Given the description of an element on the screen output the (x, y) to click on. 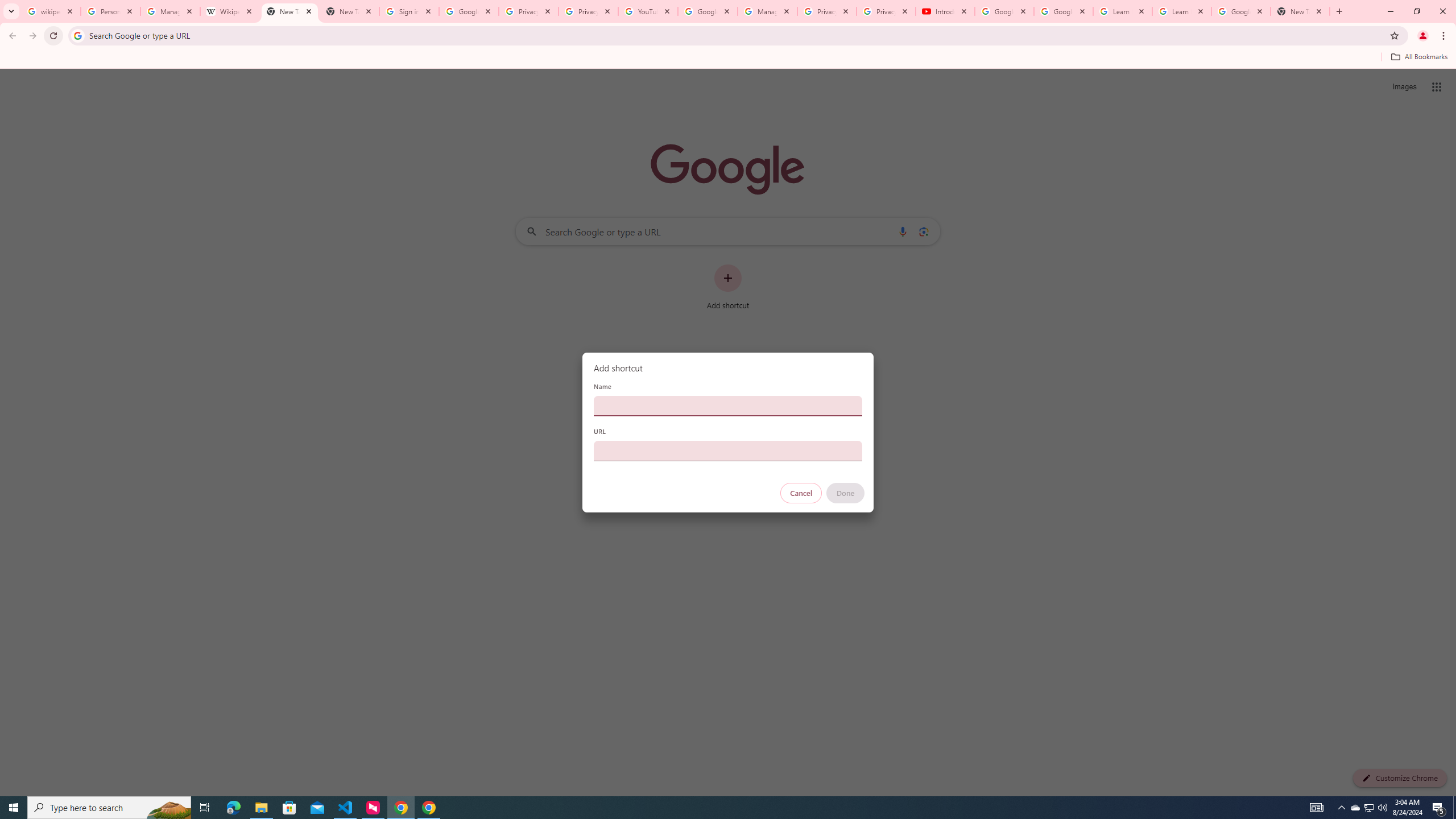
New Tab (1300, 11)
New Tab (289, 11)
Sign in - Google Accounts (409, 11)
Done (845, 493)
Google Account Help (707, 11)
Google Drive: Sign-in (468, 11)
